Given the description of an element on the screen output the (x, y) to click on. 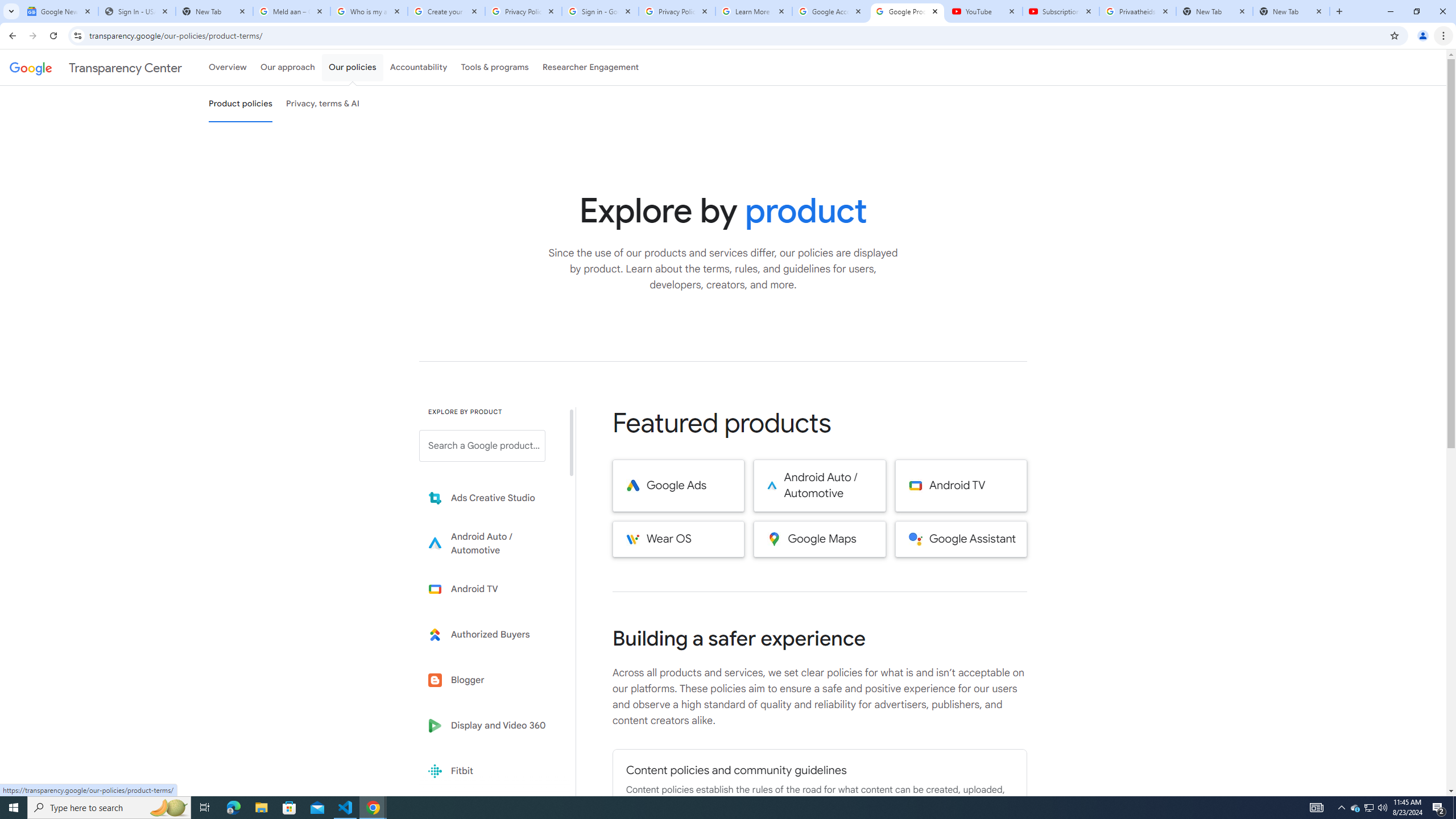
Our policies (351, 67)
Google Ads (678, 485)
Researcher Engagement (590, 67)
Our approach (287, 67)
Display and Video 360 (490, 725)
Learn more about Authorized Buyers (490, 634)
Google Maps (820, 538)
